Given the description of an element on the screen output the (x, y) to click on. 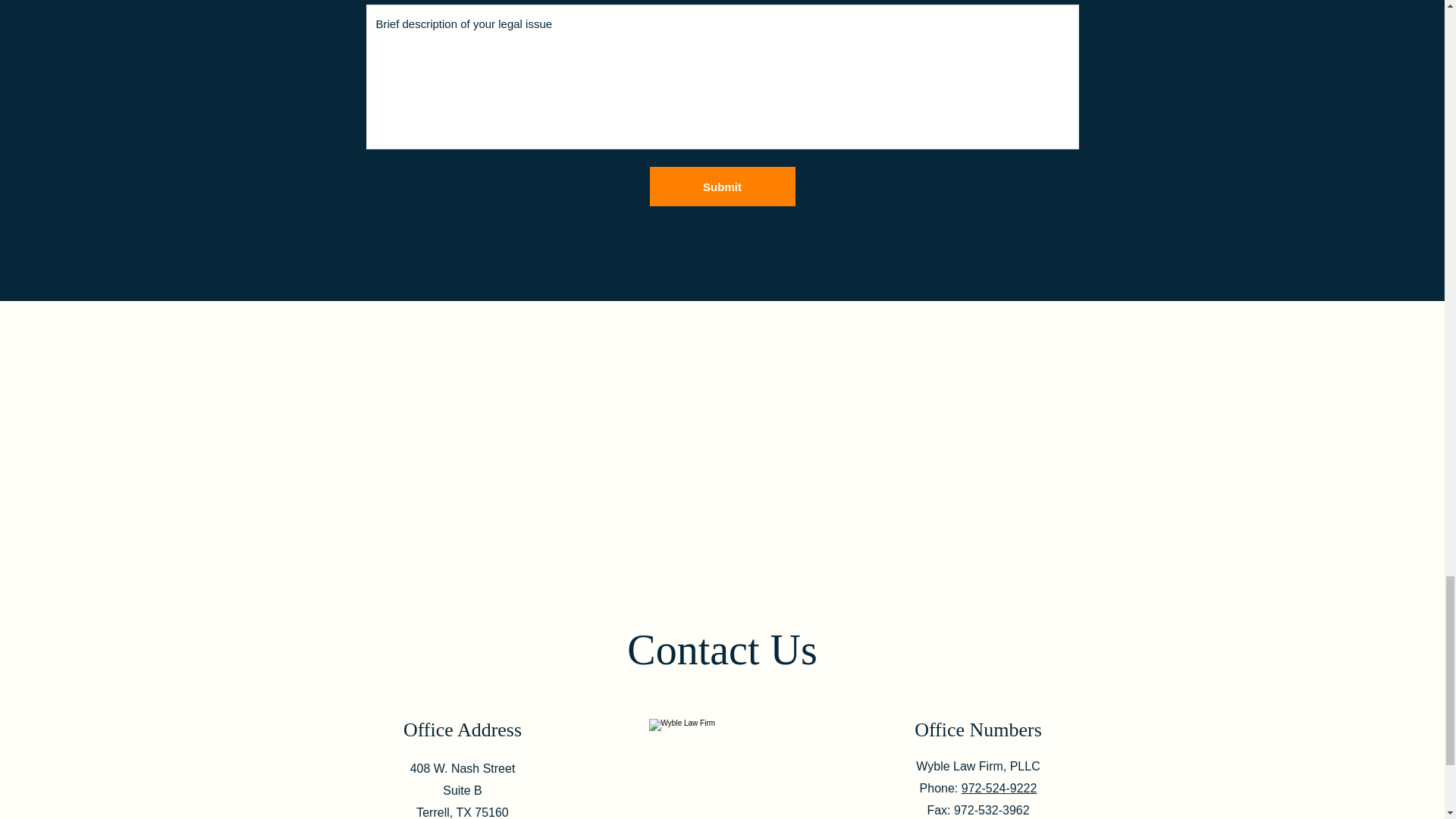
footer-logo.webp (721, 741)
Disclaimer (392, 167)
Privacy Policy (463, 167)
Submit (721, 186)
